Given the description of an element on the screen output the (x, y) to click on. 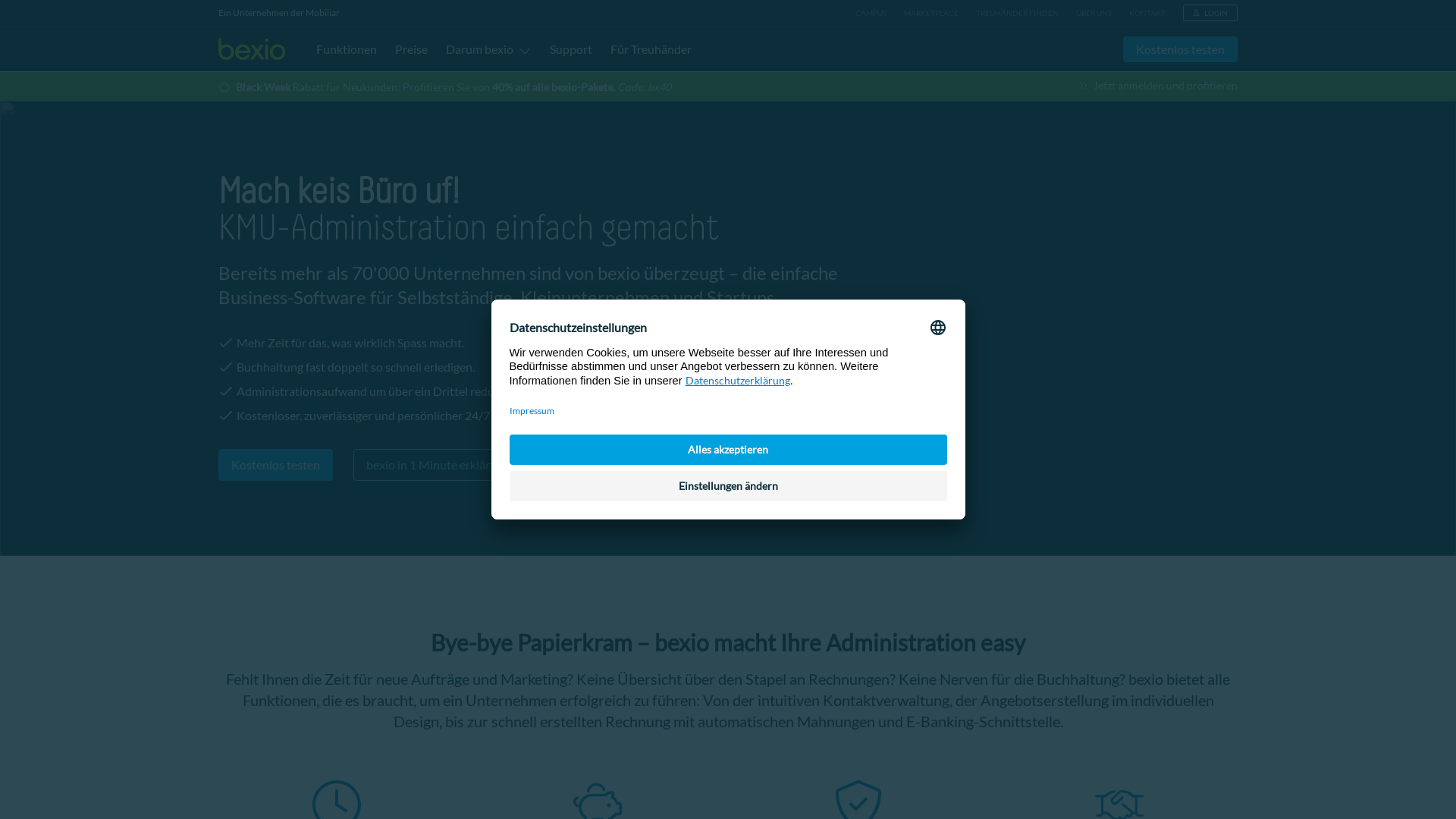
Funktionen Element type: text (346, 48)
KONTAKT Element type: text (1147, 12)
Jetzt anmelden und profitieren Element type: text (1157, 85)
Darum bexio Element type: text (490, 48)
Support Element type: text (570, 48)
Kostenlos testen Element type: text (275, 464)
Preise Element type: text (411, 48)
Kostenlos testen Element type: text (1180, 49)
LOGIN Element type: text (1210, 12)
MARKETPLACE Element type: text (930, 12)
CAMPUS Element type: text (870, 12)
